Given the description of an element on the screen output the (x, y) to click on. 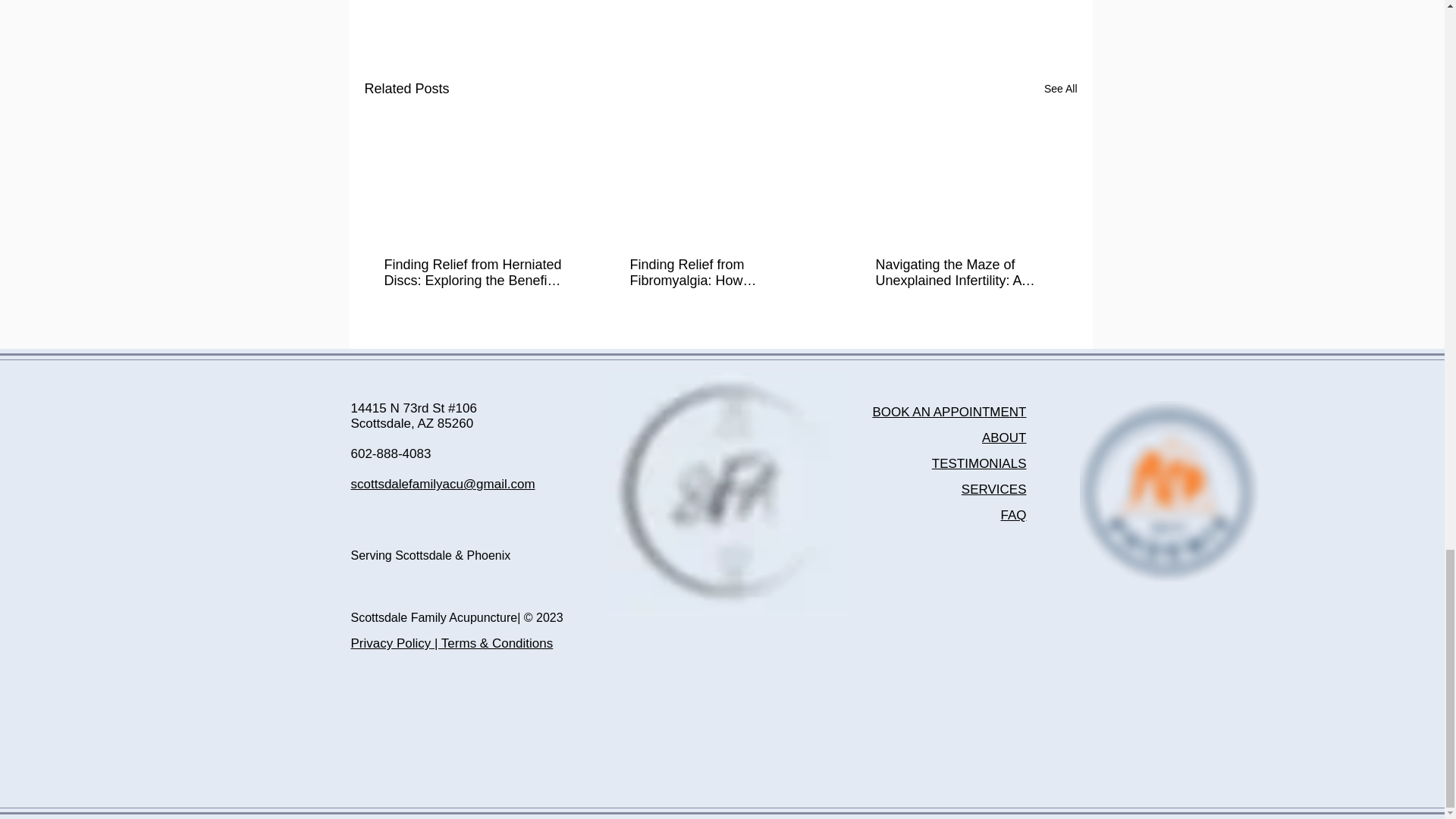
SERVICES (993, 489)
TESTIMONIALS (978, 463)
FAQ (1013, 514)
BOOK AN APPOINTMENT (949, 411)
ABOUT (1003, 437)
See All (1060, 88)
